Given the description of an element on the screen output the (x, y) to click on. 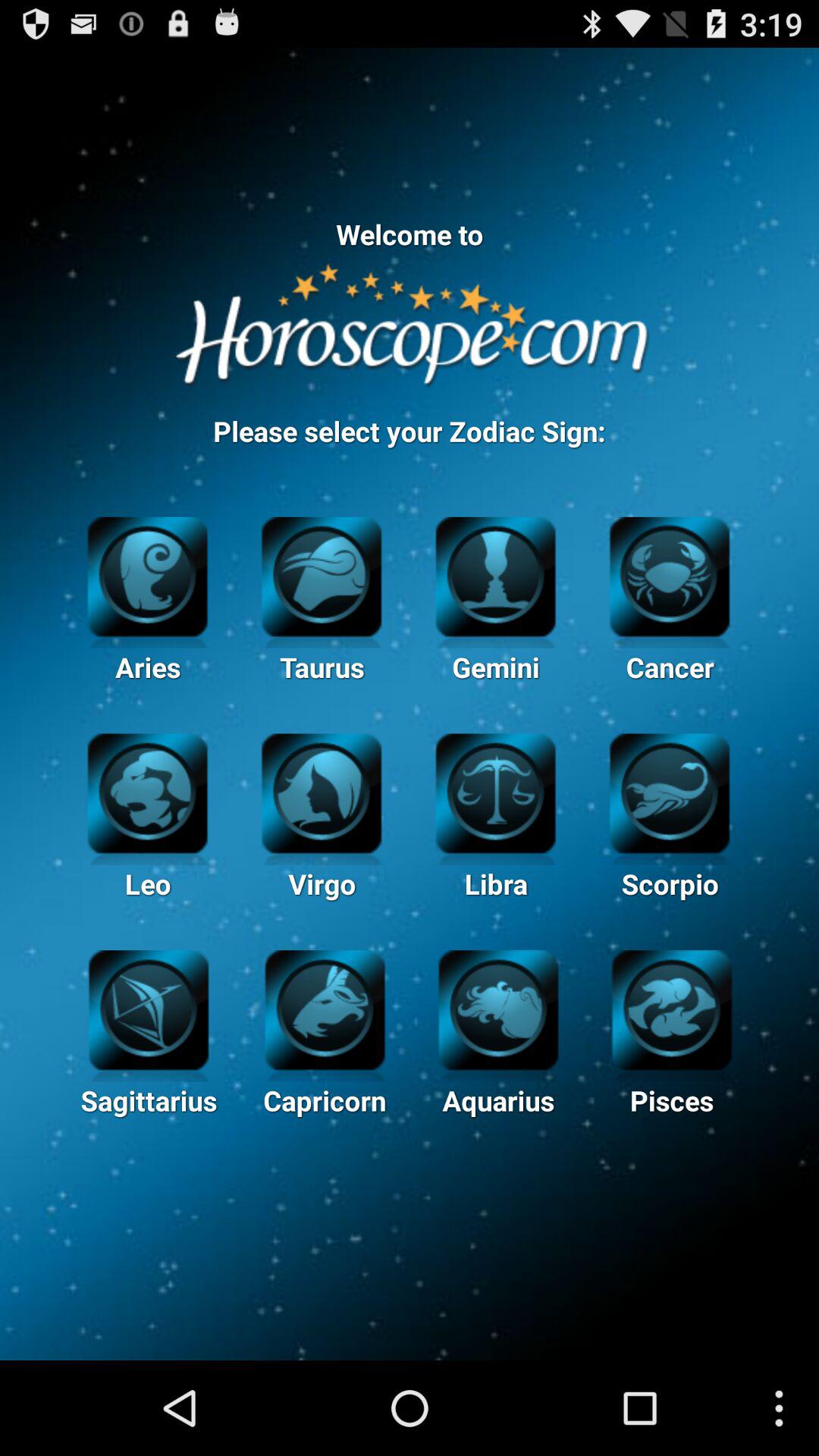
select the libra option (495, 791)
